Given the description of an element on the screen output the (x, y) to click on. 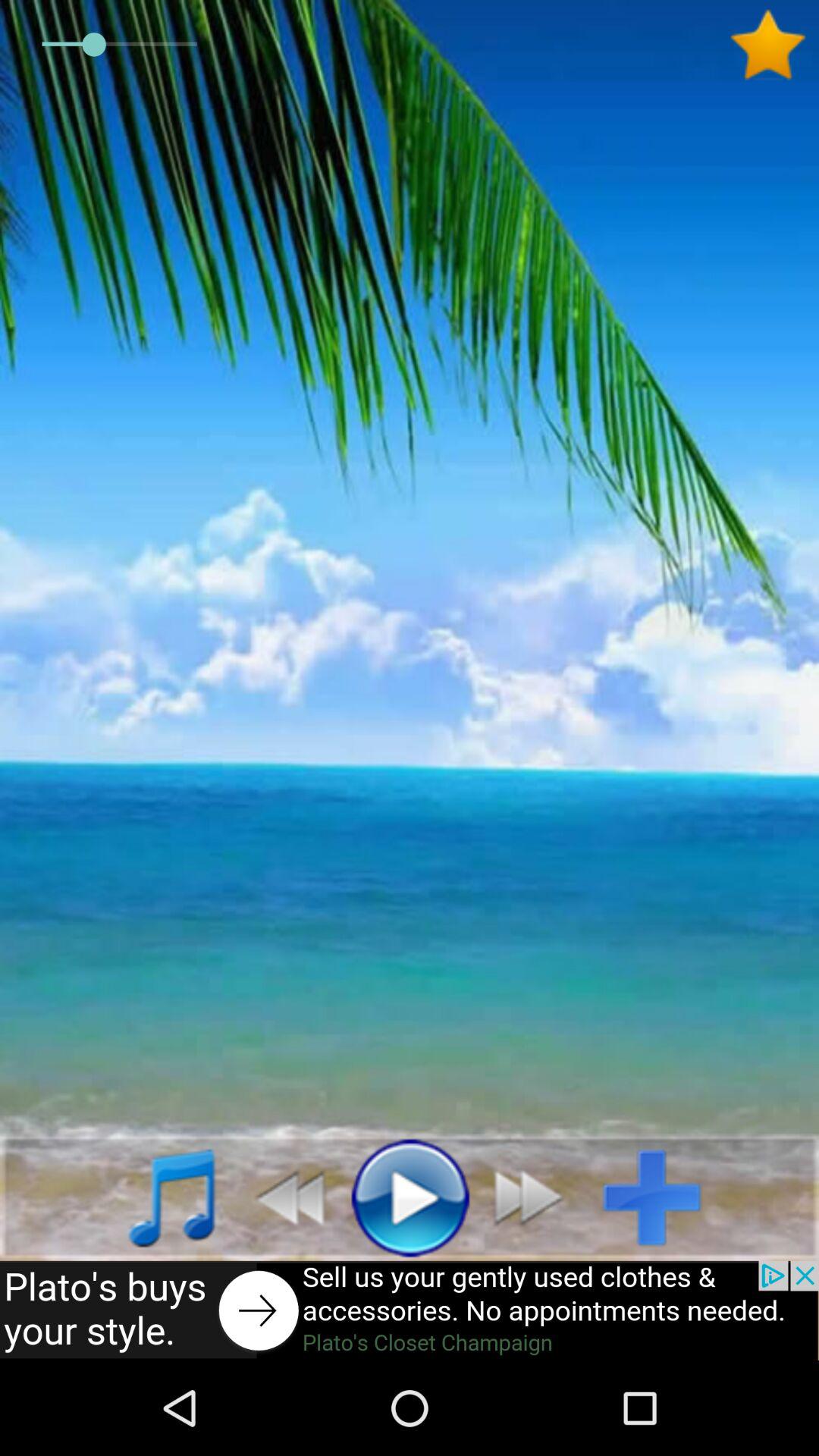
music button (154, 1196)
